Given the description of an element on the screen output the (x, y) to click on. 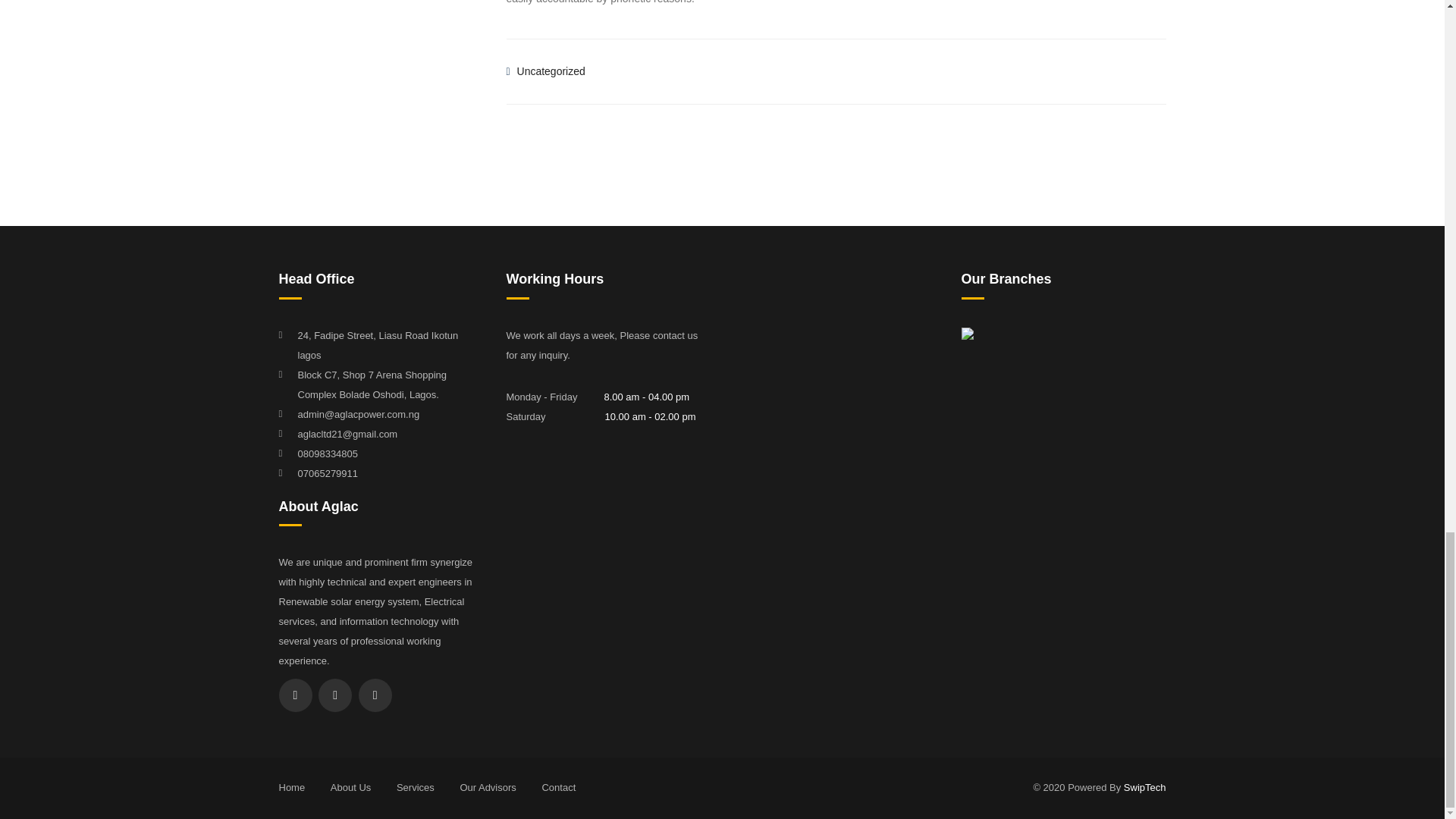
Uncategorized (550, 70)
Services (414, 787)
Home (292, 787)
08098334805 (327, 453)
About Us (350, 787)
07065279911 (327, 473)
